Given the description of an element on the screen output the (x, y) to click on. 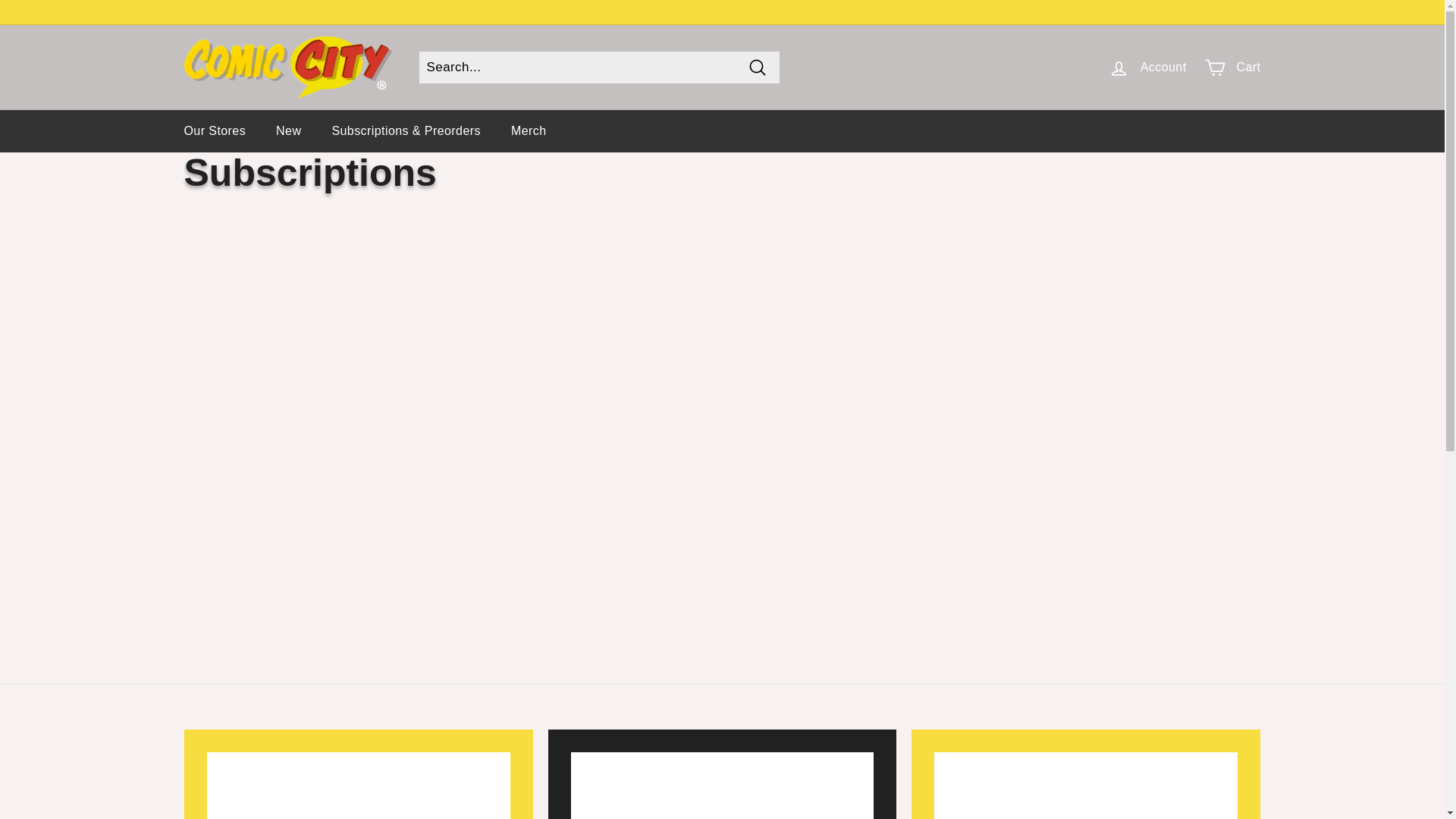
Account (1147, 67)
Merch (529, 130)
Our Stores (214, 130)
New (287, 130)
